Given the description of an element on the screen output the (x, y) to click on. 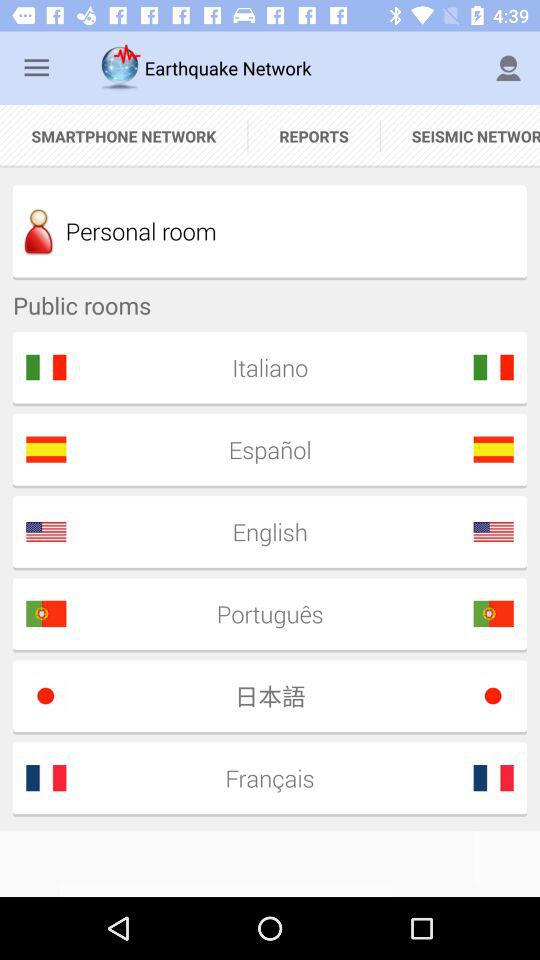
click item to the right of the reports app (508, 67)
